Given the description of an element on the screen output the (x, y) to click on. 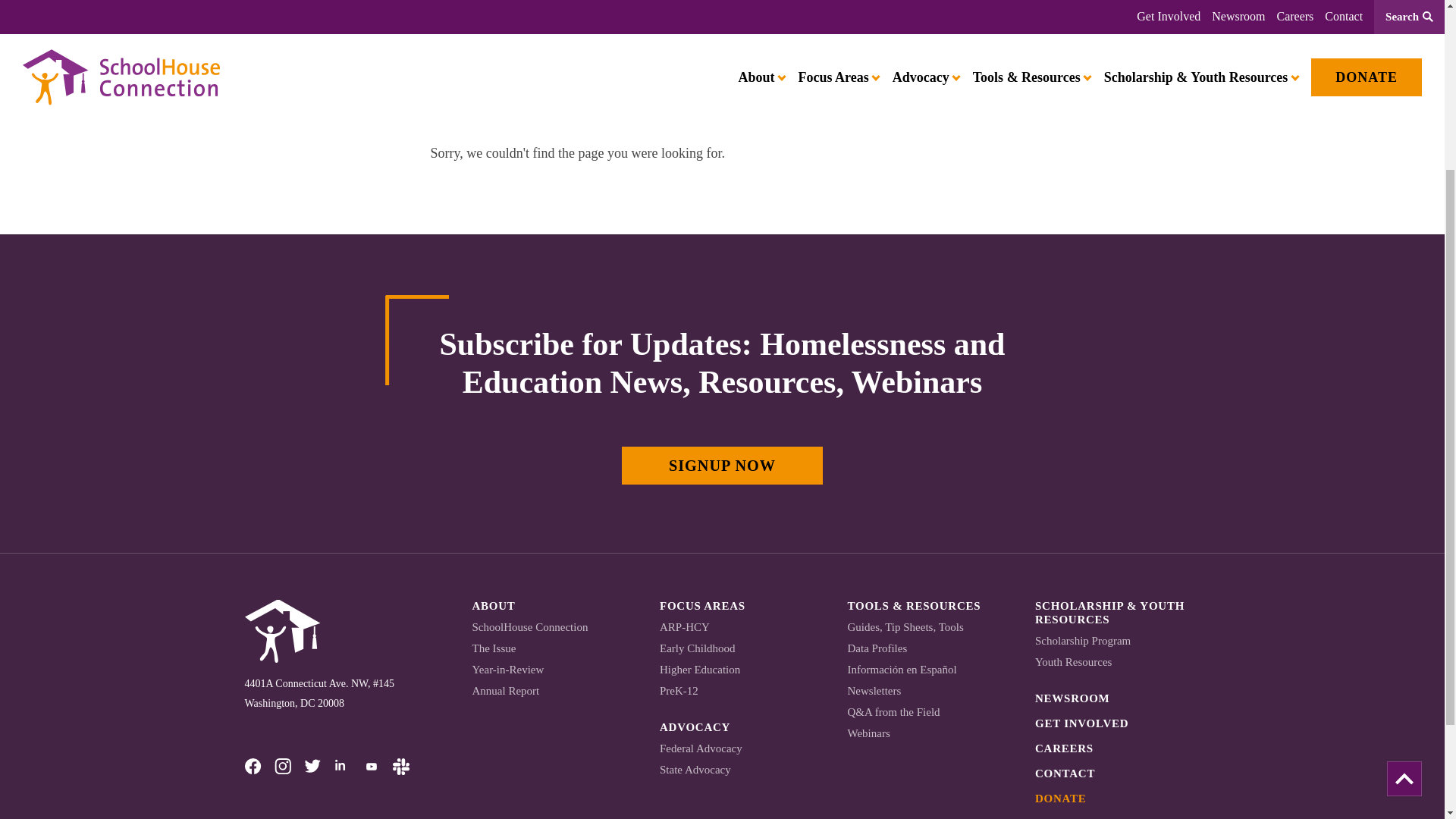
SIGNUP NOW (721, 465)
